Given the description of an element on the screen output the (x, y) to click on. 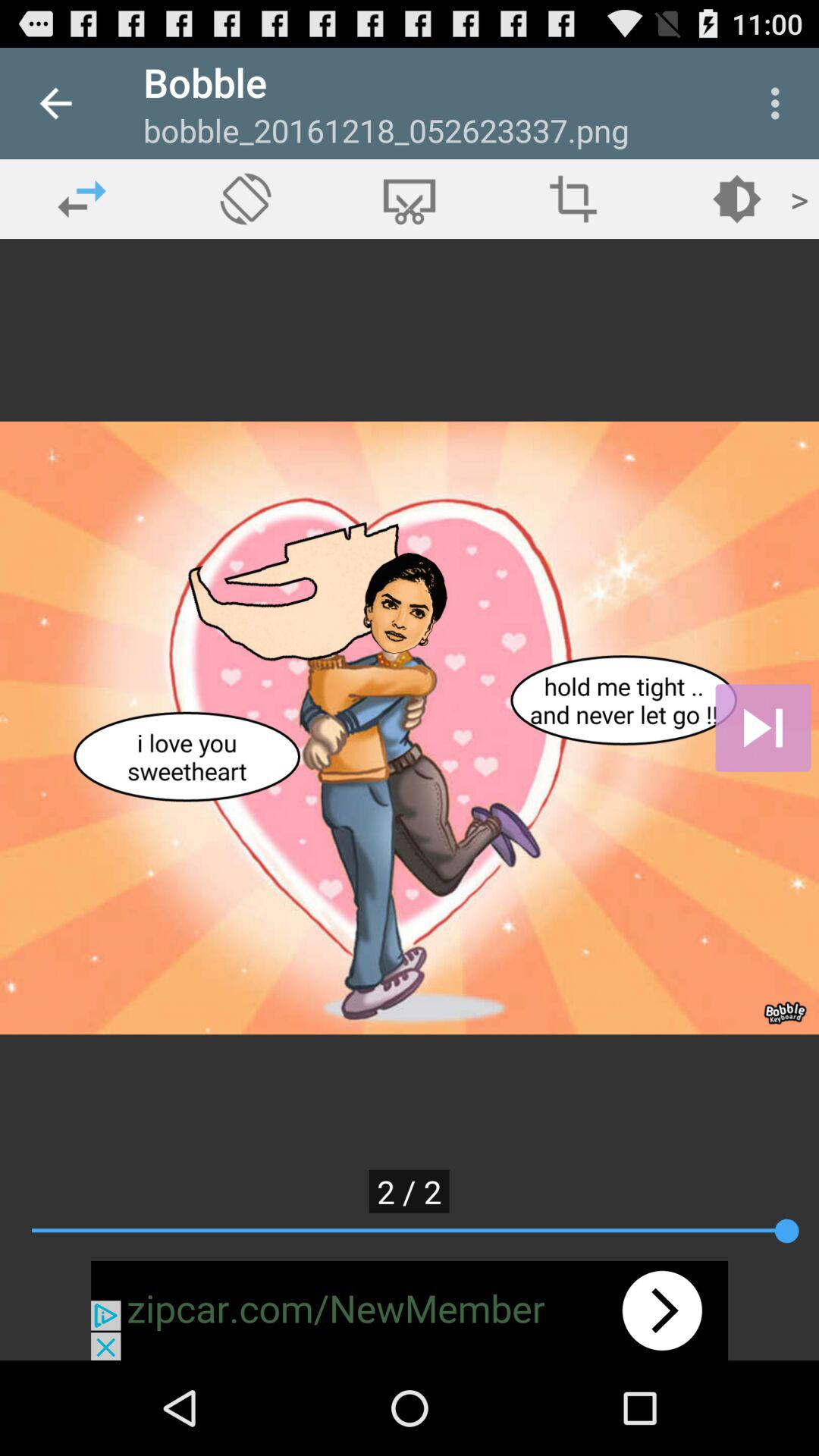
go to next (763, 727)
